Given the description of an element on the screen output the (x, y) to click on. 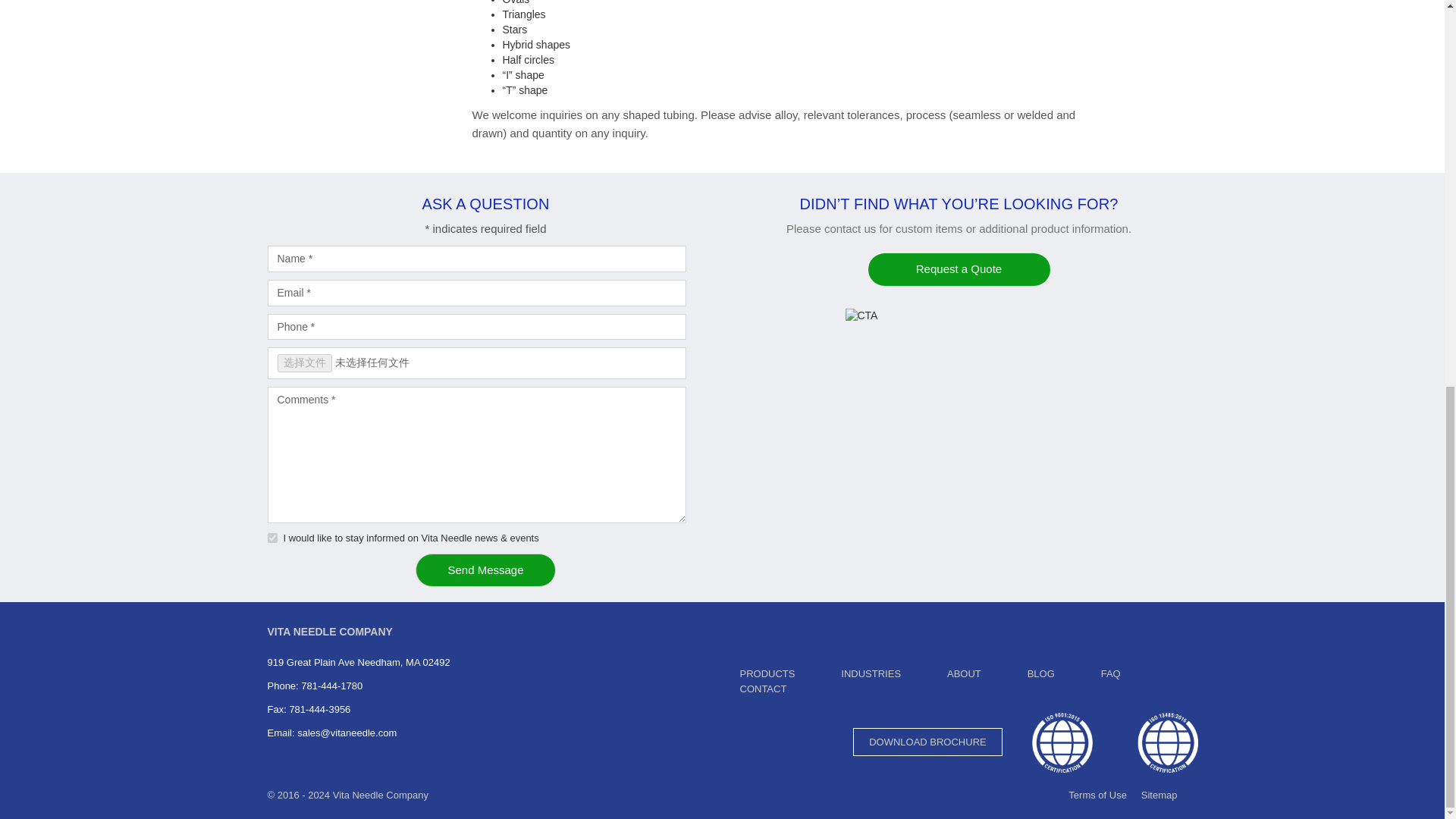
Yes (271, 537)
Send Message (485, 570)
